Given the description of an element on the screen output the (x, y) to click on. 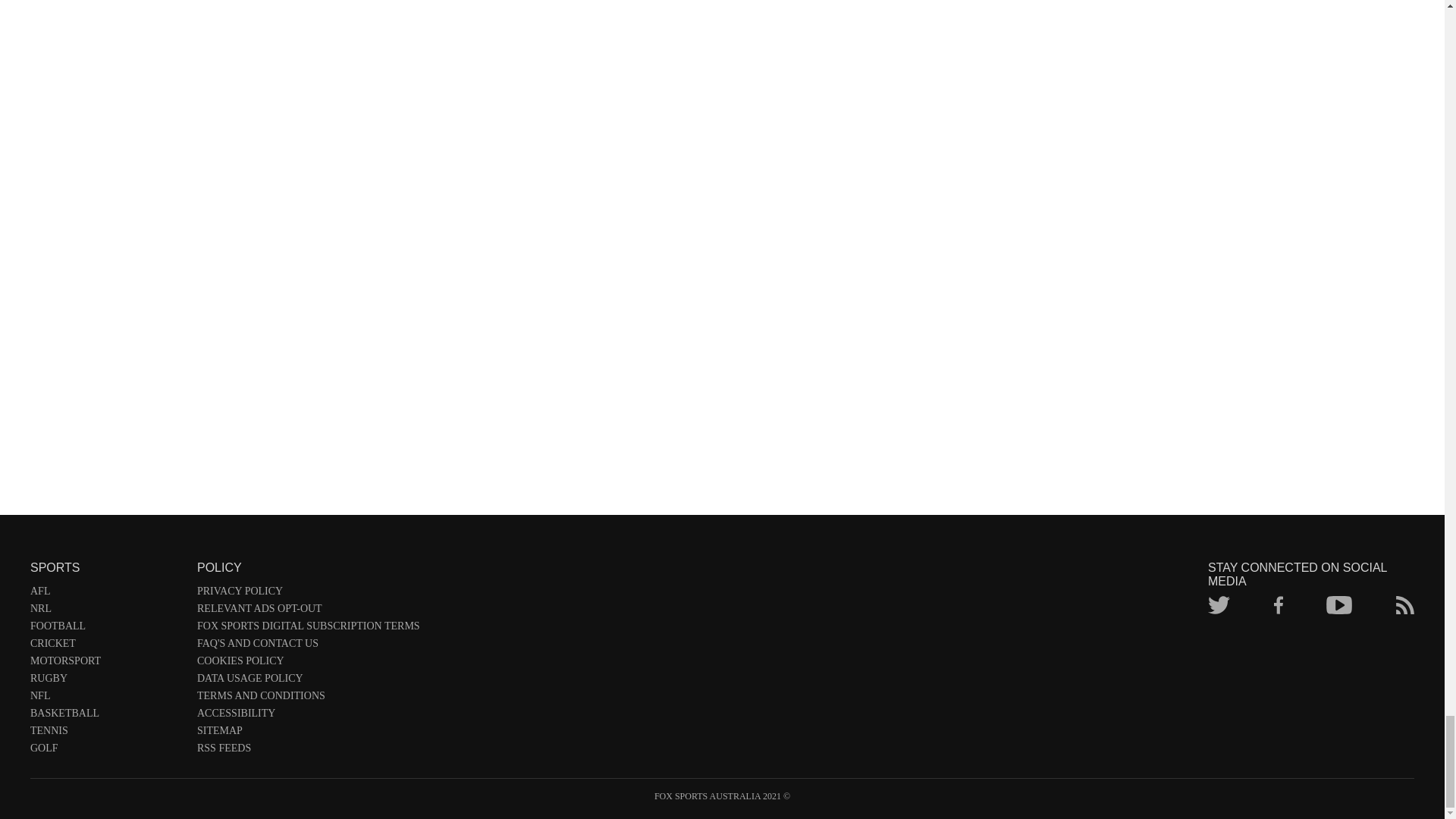
GOLF (106, 751)
FOX SPORTS DIGITAL SUBSCRIPTION TERMS (308, 628)
MOTORSPORT (106, 663)
NRL (106, 610)
RELEVANT ADS OPT-OUT (308, 610)
PRIVACY POLICY (308, 593)
FOOTBALL (106, 628)
AFL (106, 593)
NFL (106, 698)
TENNIS (106, 733)
BASKETBALL (106, 715)
RUGBY (106, 681)
CRICKET (106, 646)
